Given the description of an element on the screen output the (x, y) to click on. 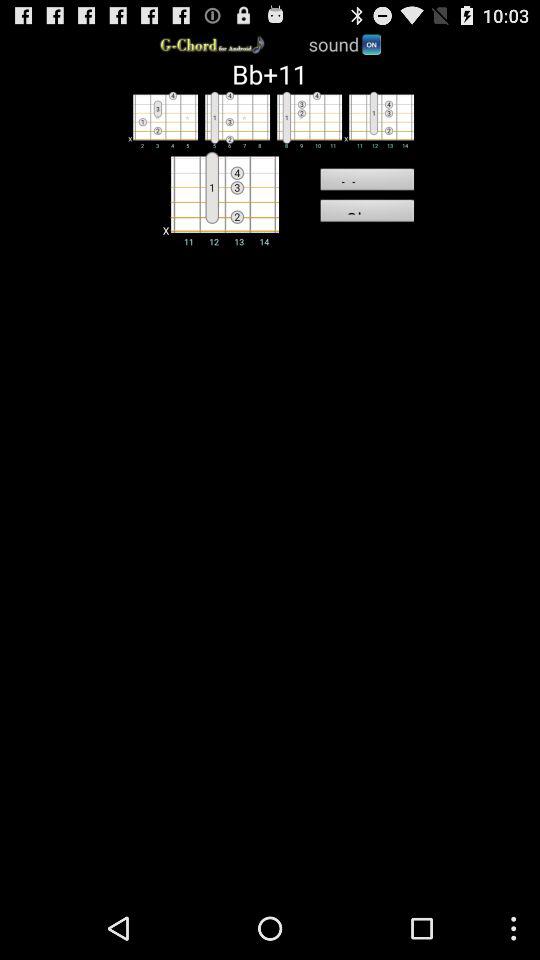
scroll to the clear item (366, 213)
